Given the description of an element on the screen output the (x, y) to click on. 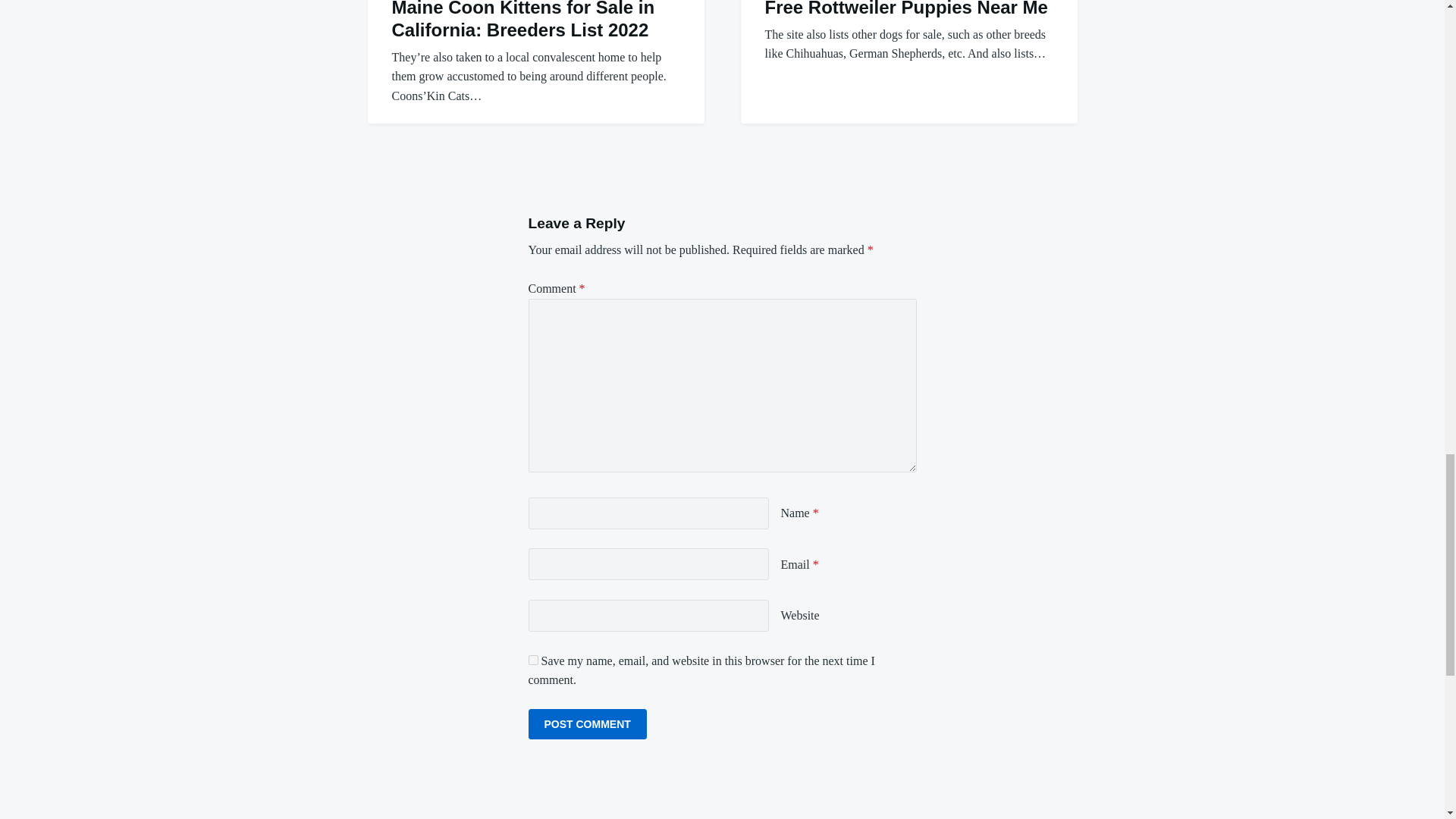
yes (532, 660)
Post Comment (586, 724)
Post Comment (586, 724)
Free Rottweiler Puppies Near Me (905, 8)
